Given the description of an element on the screen output the (x, y) to click on. 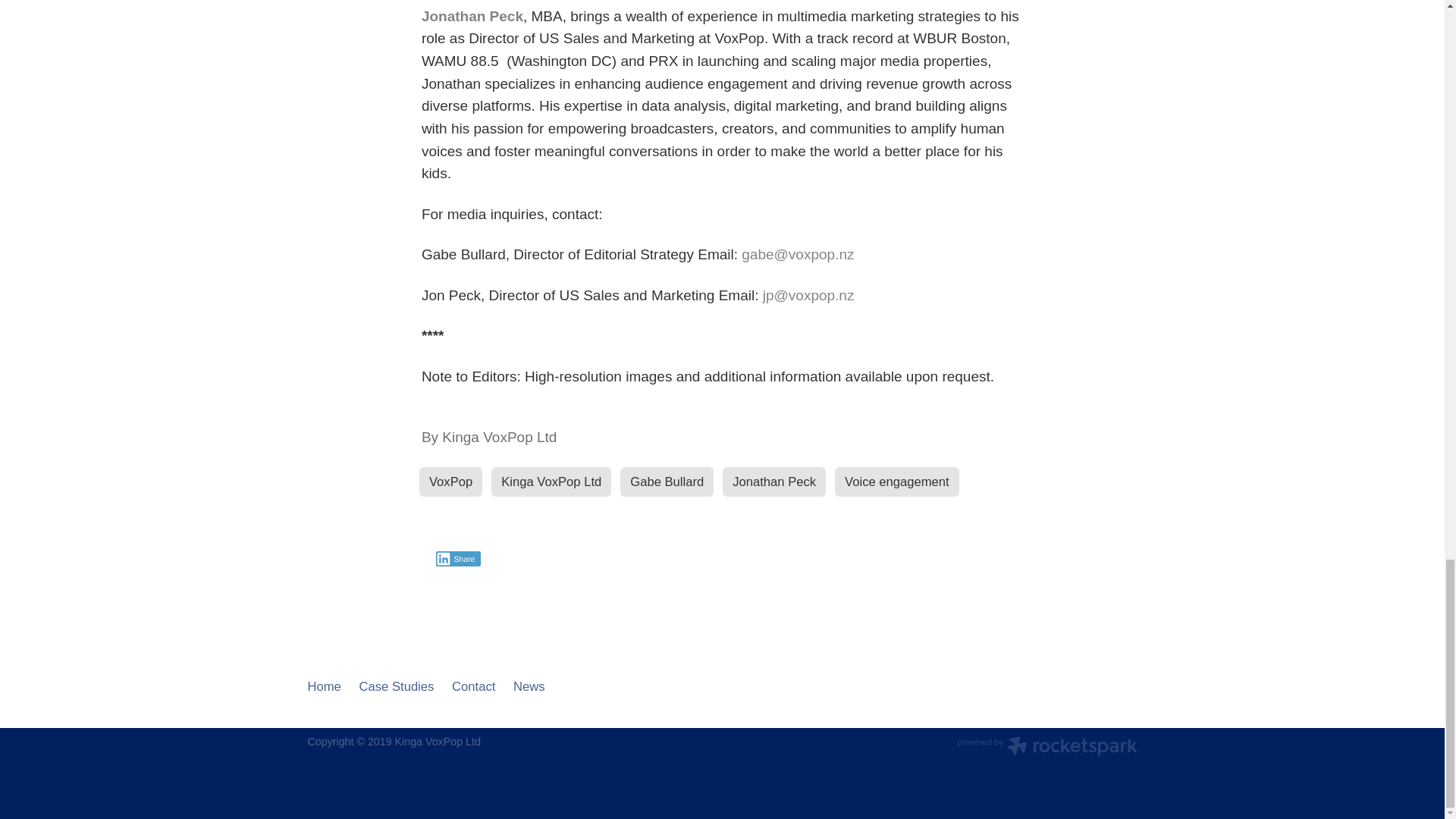
Rocketspark website builder (1046, 747)
